Given the description of an element on the screen output the (x, y) to click on. 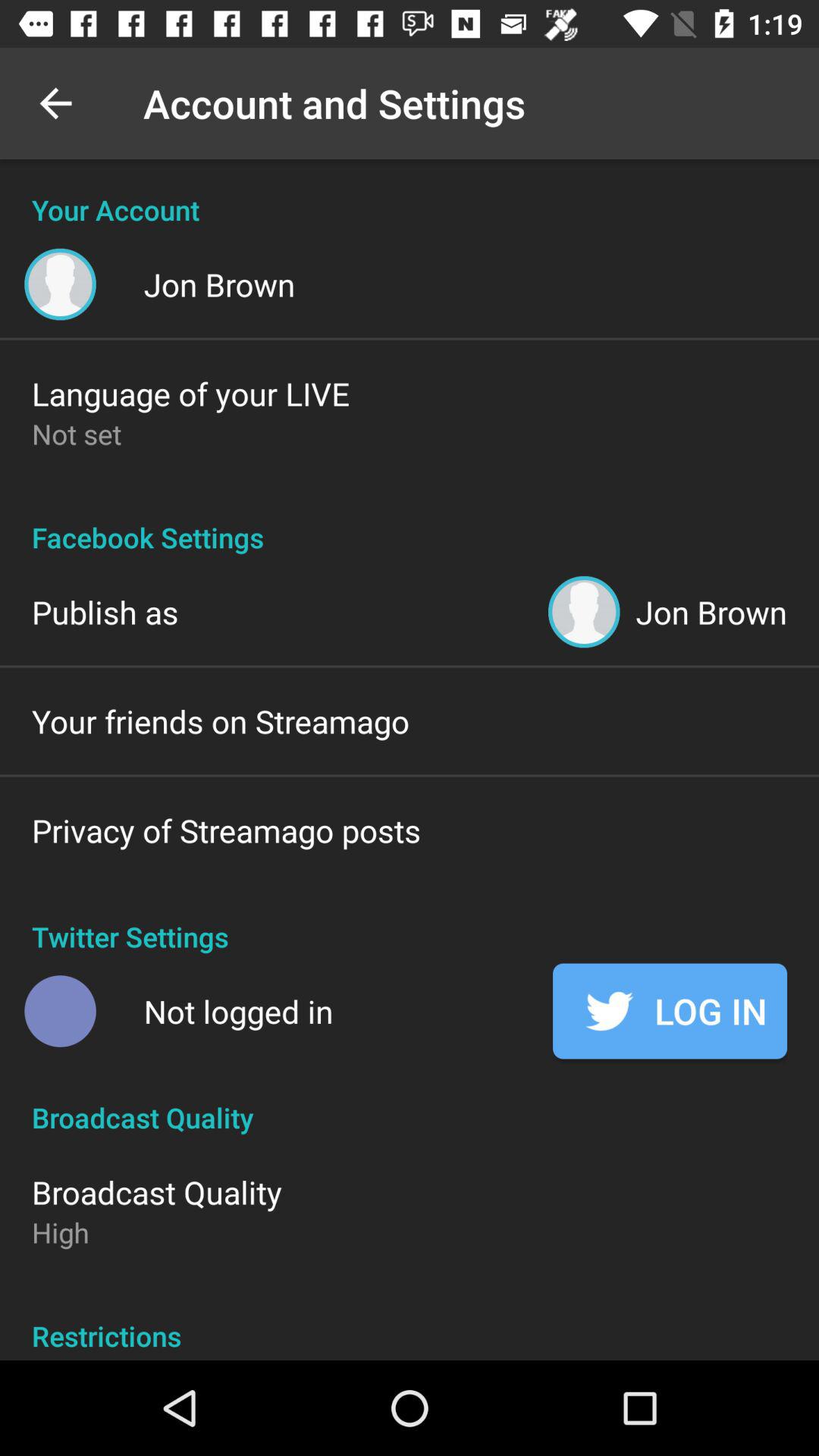
press the item to the left of the jon brown item (104, 611)
